Given the description of an element on the screen output the (x, y) to click on. 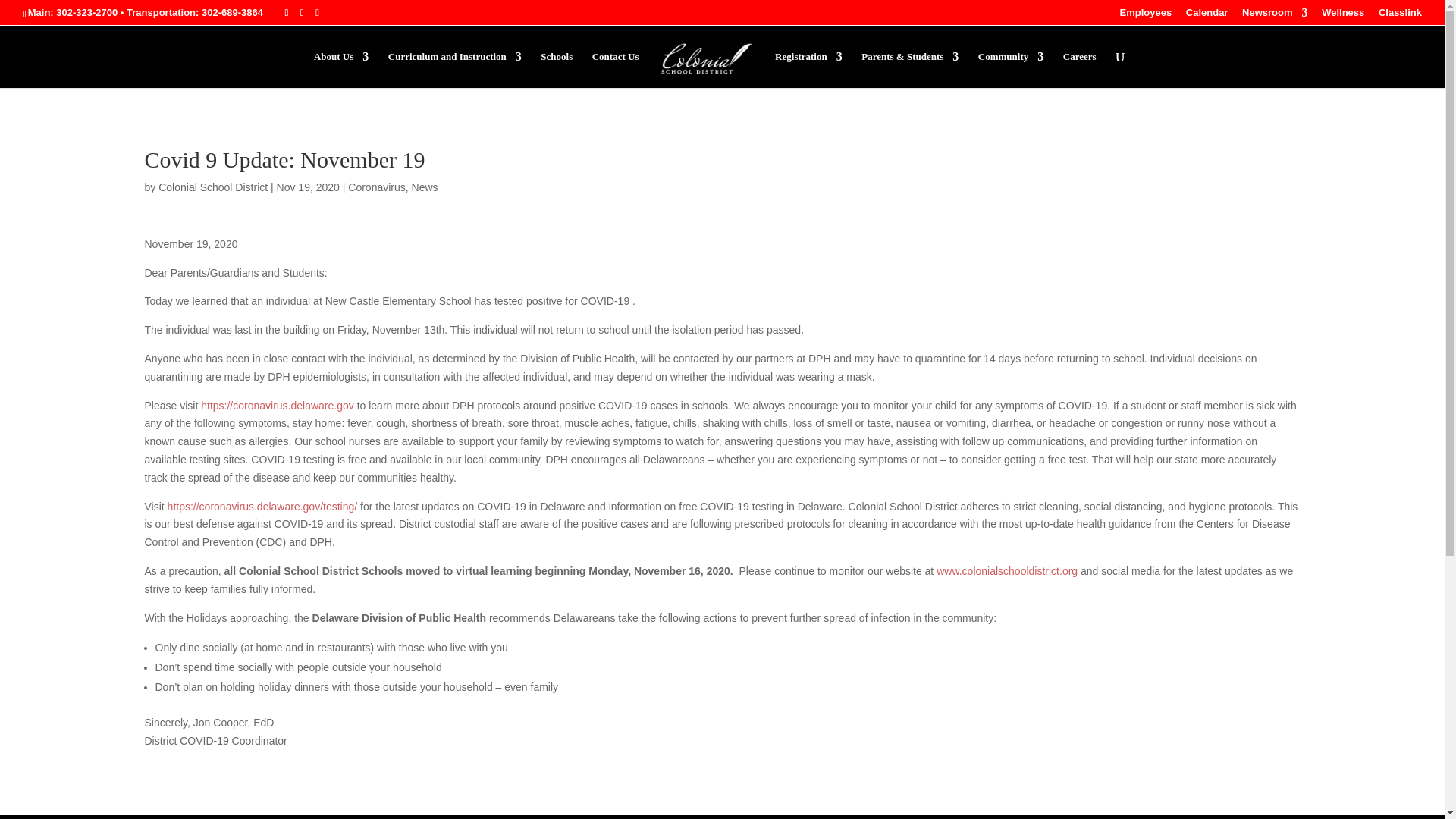
Posts by Colonial School District (212, 186)
About Us (341, 69)
Newsroom (1274, 16)
Classlink (1400, 16)
Curriculum and Instruction (454, 69)
Calendar (1207, 16)
Employees (1145, 16)
Wellness (1343, 16)
